Given the description of an element on the screen output the (x, y) to click on. 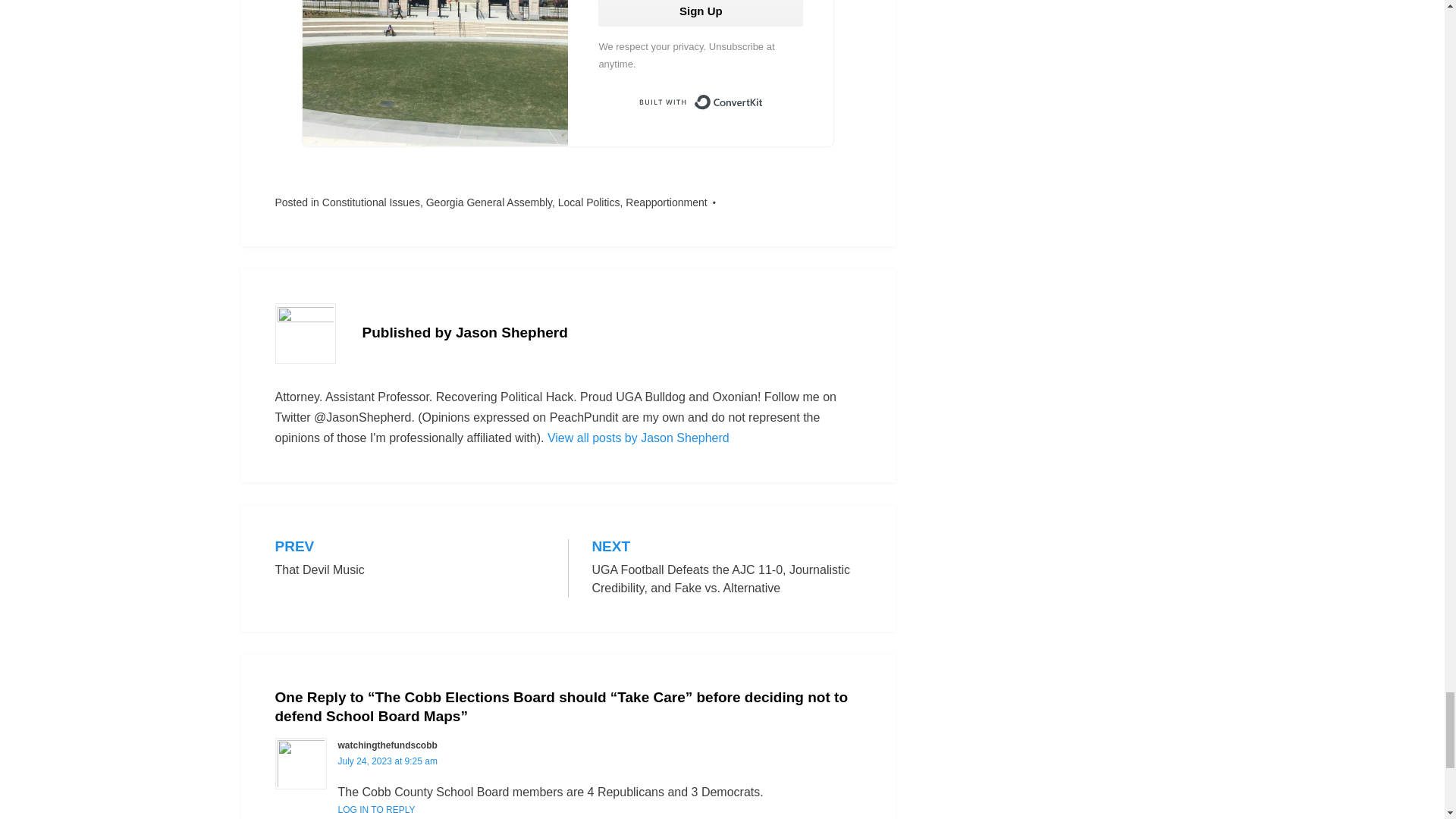
Constitutional Issues (370, 202)
Reapportionment (666, 202)
View all posts by Jason Shepherd (638, 437)
LOG IN TO REPLY (375, 809)
Local Politics (588, 202)
Built with ConvertKit (699, 102)
Georgia General Assembly (488, 202)
July 24, 2023 at 9:25 am (387, 760)
Sign Up (409, 558)
